Given the description of an element on the screen output the (x, y) to click on. 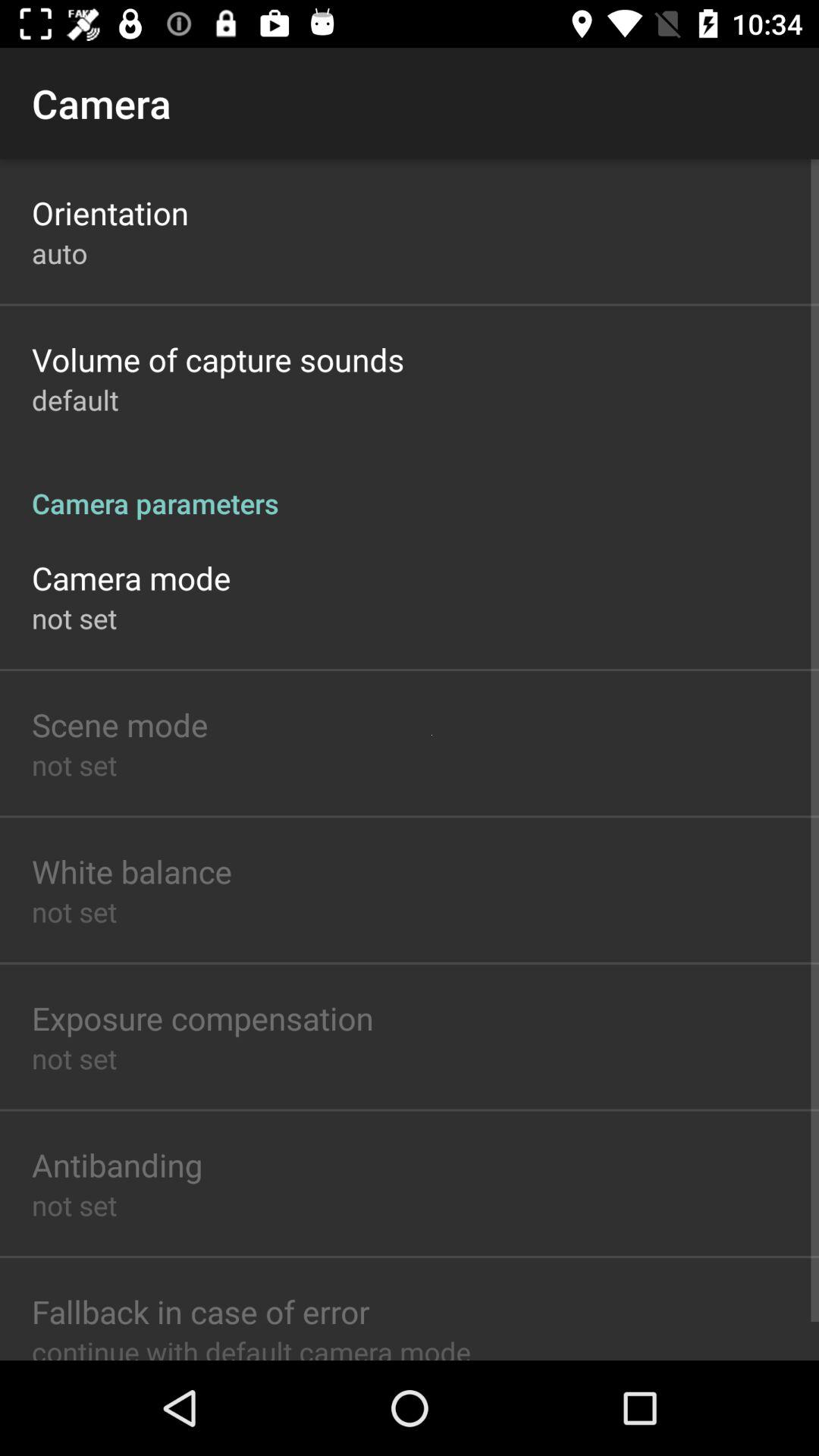
press the continue with default app (250, 1346)
